Given the description of an element on the screen output the (x, y) to click on. 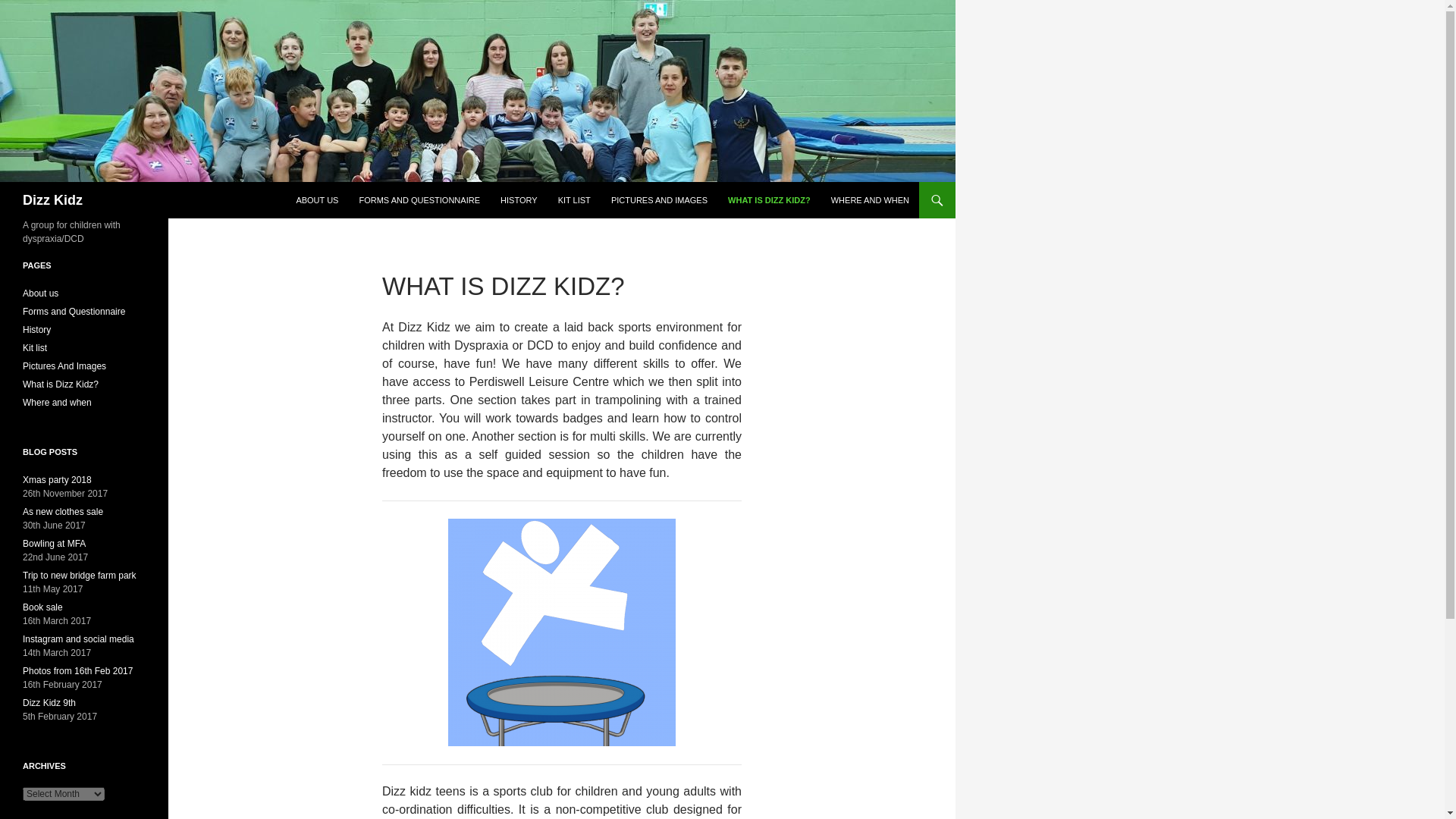
Dizz Kidz (52, 199)
Photos from 16th Feb 2017 (77, 670)
ABOUT US (316, 199)
Kit list (34, 347)
HISTORY (519, 199)
Trip to new bridge farm park (79, 575)
FORMS AND QUESTIONNAIRE (419, 199)
Book sale (42, 606)
Instagram and social media (78, 638)
